Given the description of an element on the screen output the (x, y) to click on. 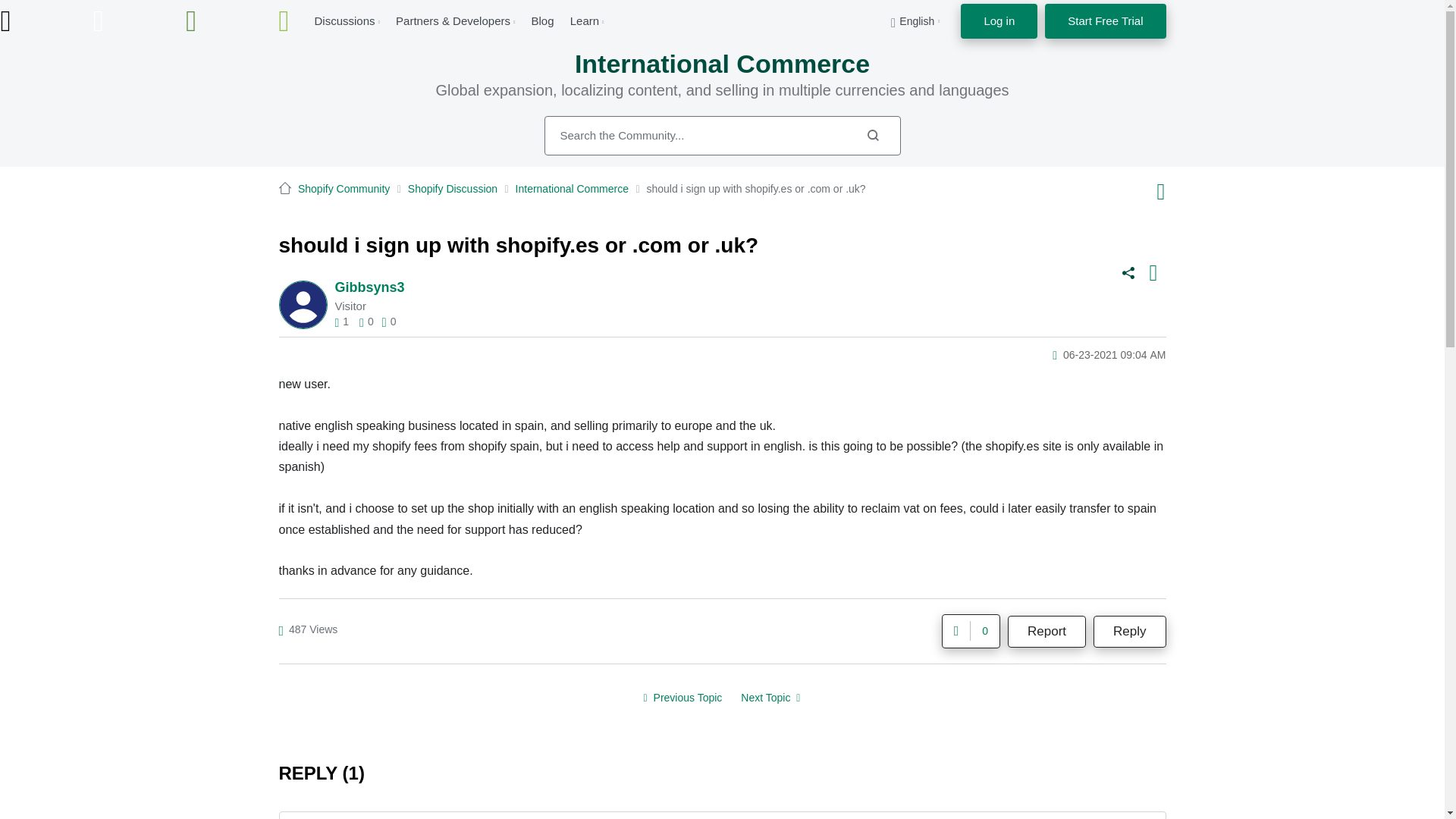
Search (872, 135)
Search (722, 135)
Search (872, 135)
Discussions (344, 20)
